Given the description of an element on the screen output the (x, y) to click on. 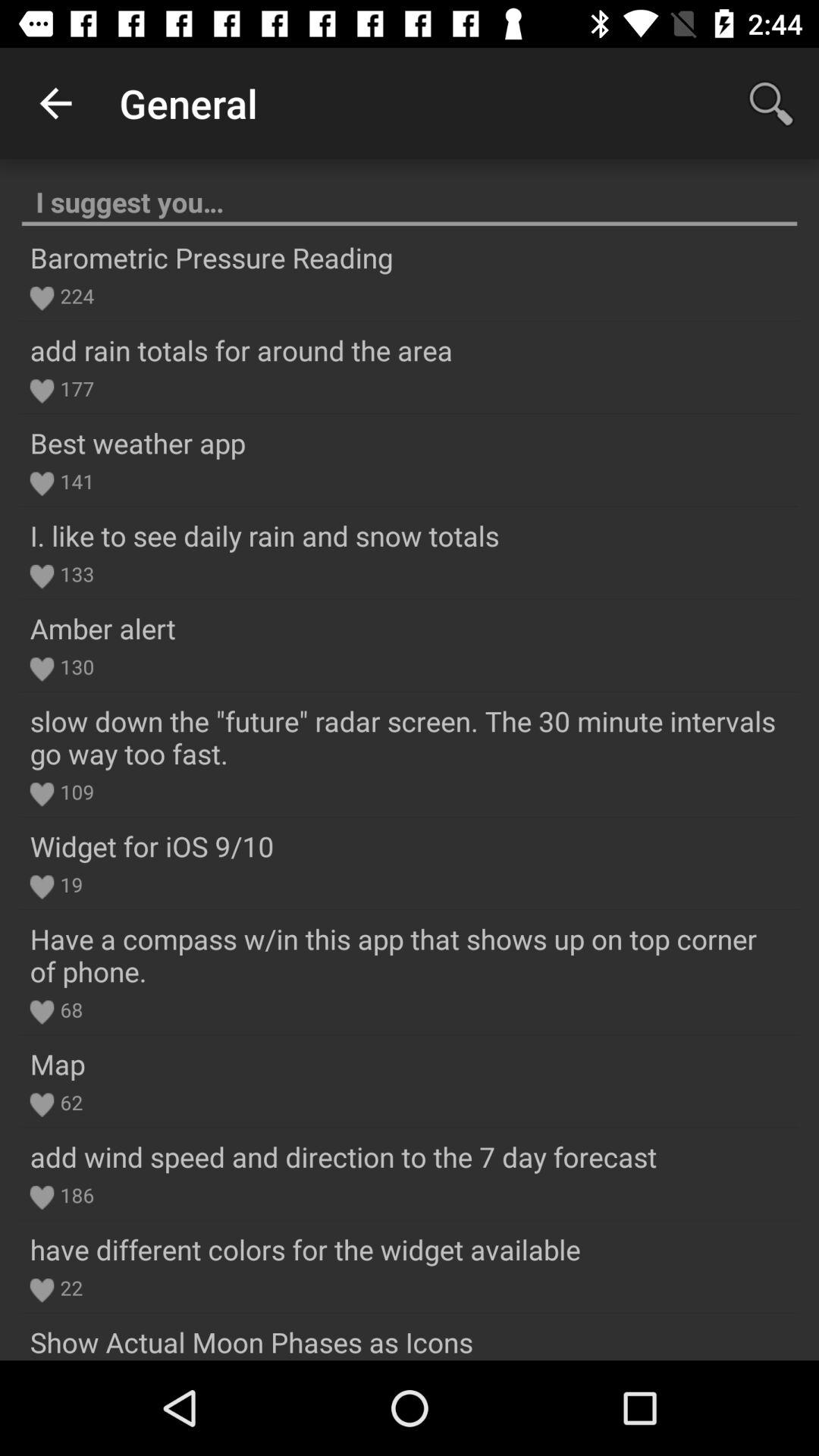
scroll until 186 (74, 1194)
